Given the description of an element on the screen output the (x, y) to click on. 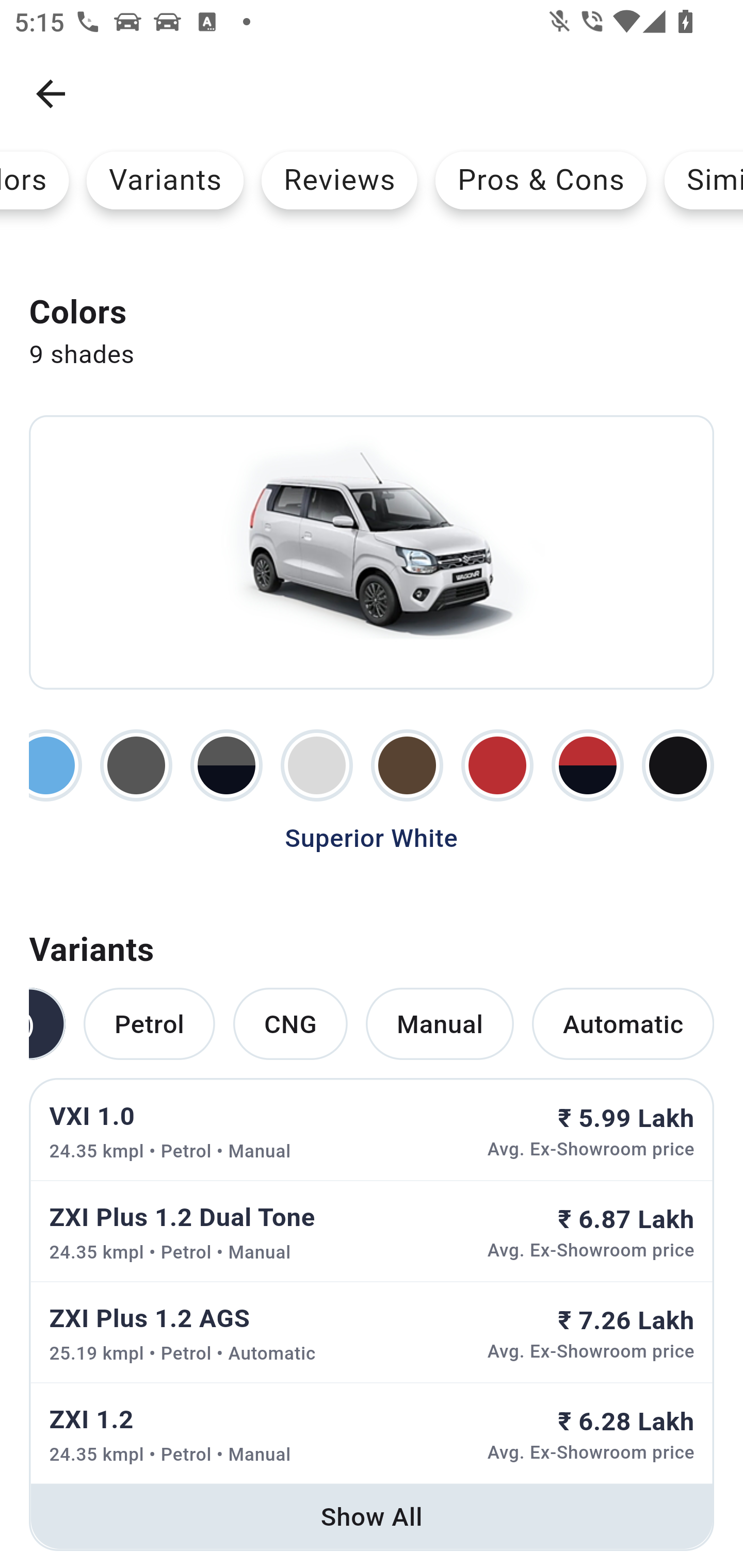
Back (50, 93)
Variants (164, 180)
Reviews (339, 180)
Pros & Cons (540, 180)
Petrol (149, 1023)
CNG (290, 1023)
Manual (439, 1023)
Automatic (622, 1023)
Show All (371, 1516)
